Given the description of an element on the screen output the (x, y) to click on. 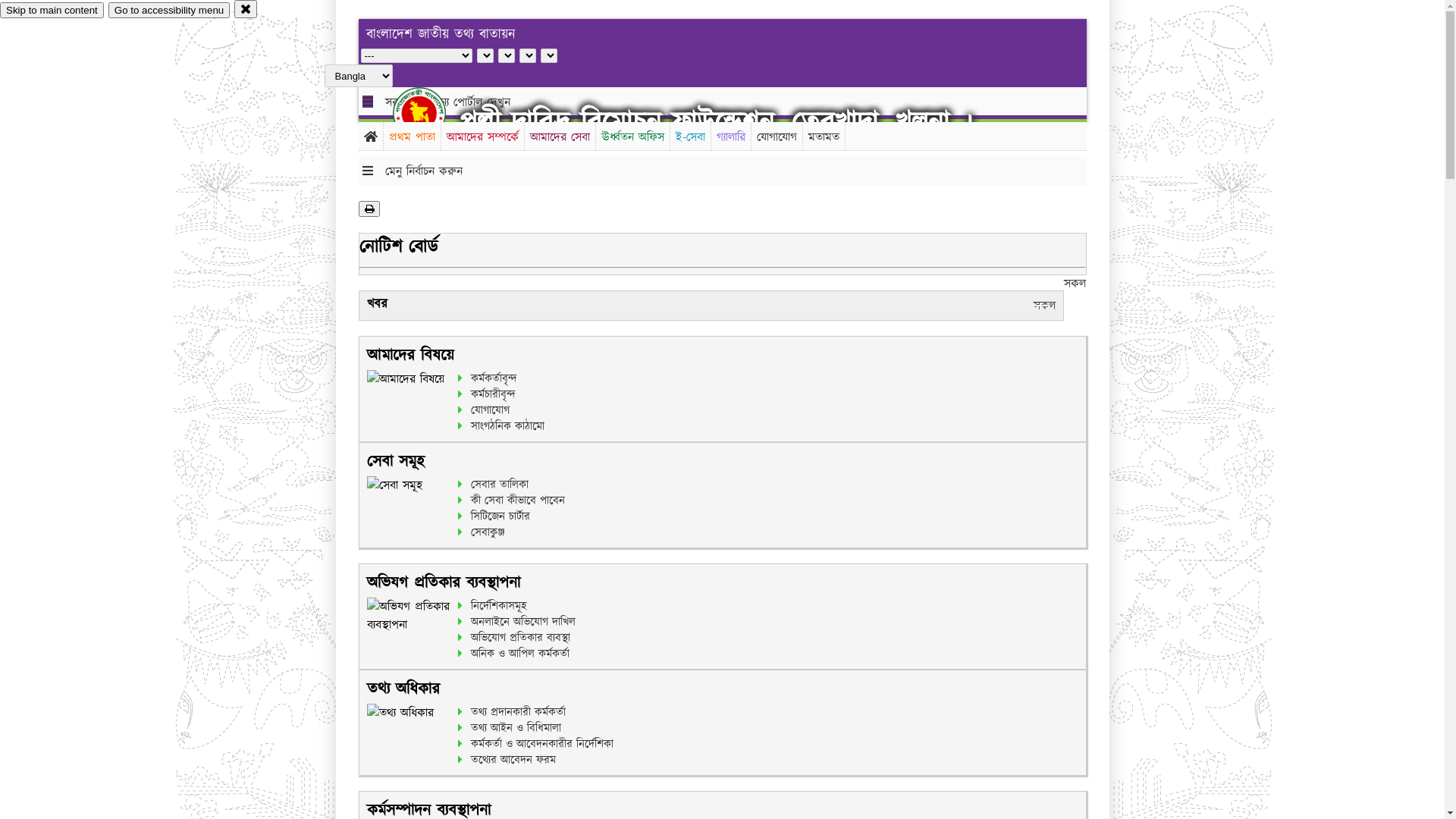

                
             Element type: hover (431, 112)
Go to accessibility menu Element type: text (168, 10)
Skip to main content Element type: text (51, 10)
close Element type: hover (245, 9)
